Given the description of an element on the screen output the (x, y) to click on. 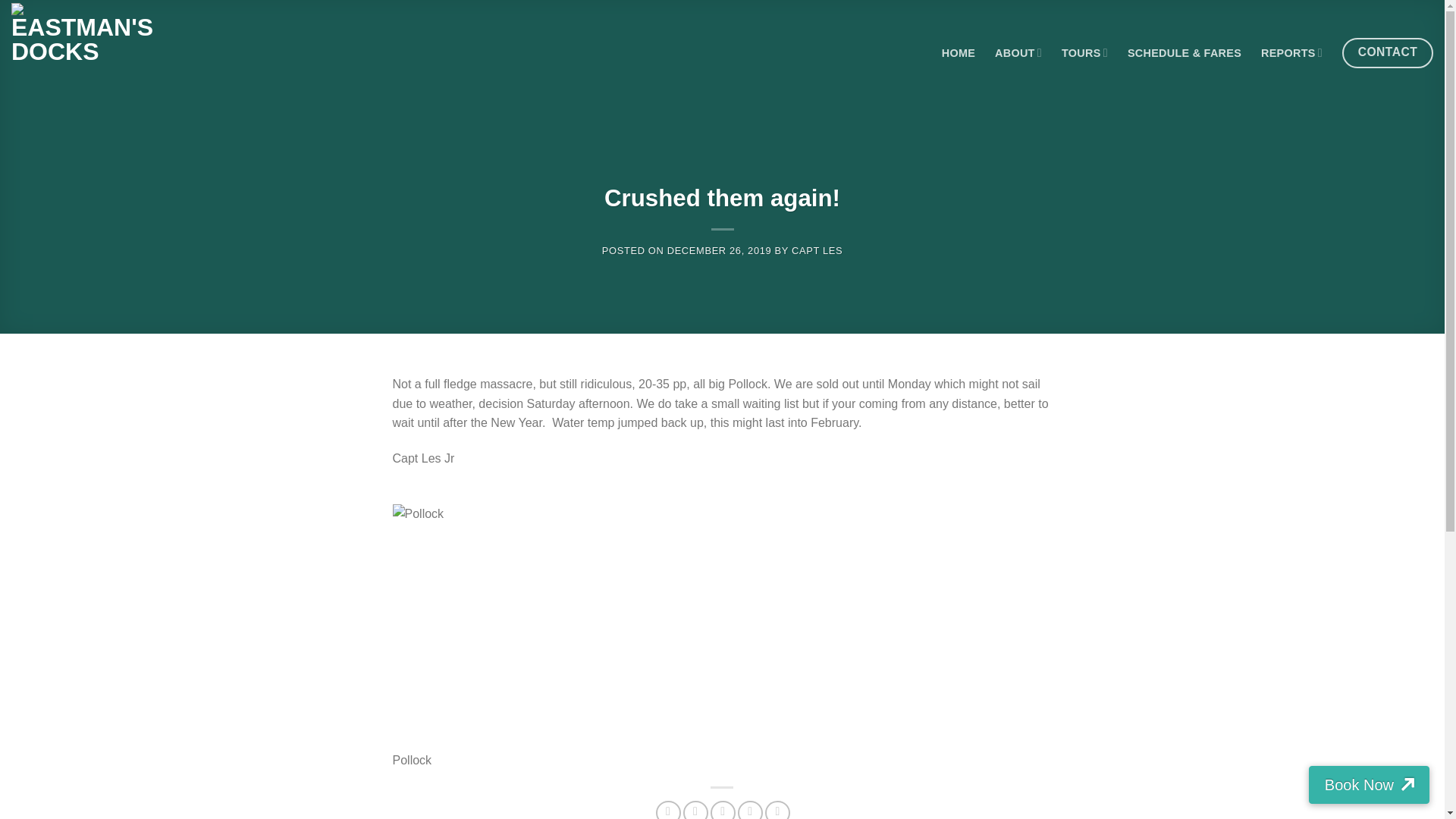
Pin on Pinterest (750, 809)
Share on Facebook (668, 809)
Share on LinkedIn (777, 809)
TOURS (1084, 52)
REPORTS (1291, 52)
ABOUT (1018, 52)
Email to a Friend (722, 809)
CONTACT (1387, 52)
HOME (958, 52)
Eastman's Docks (87, 52)
